Given the description of an element on the screen output the (x, y) to click on. 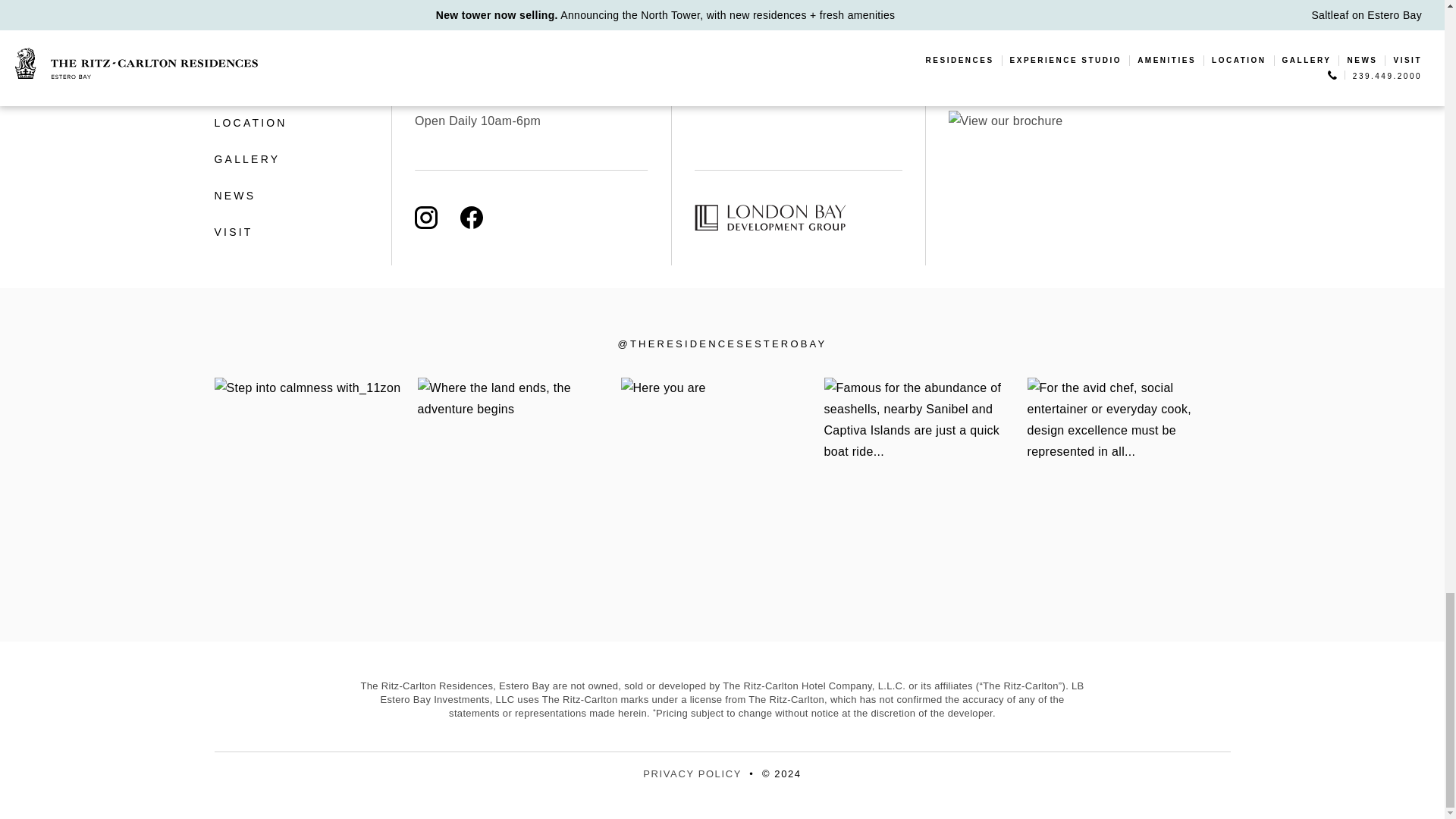
EXPERIENCE STUDIO (290, 49)
AMENITIES (290, 85)
LOCATION (290, 122)
GALLERY (290, 158)
RESIDENCES (290, 15)
